Given the description of an element on the screen output the (x, y) to click on. 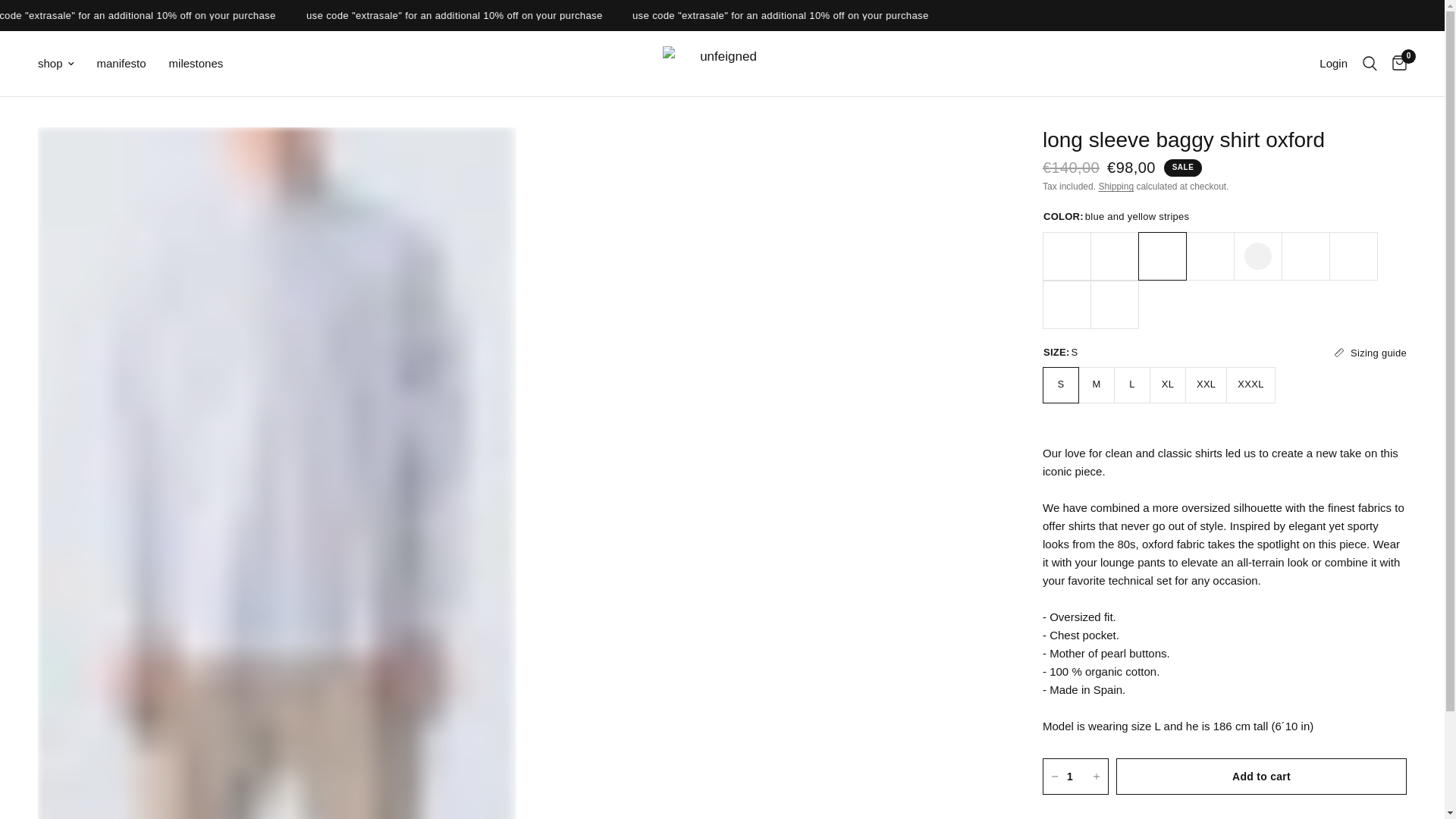
milestones (196, 63)
manifesto (122, 63)
